Given the description of an element on the screen output the (x, y) to click on. 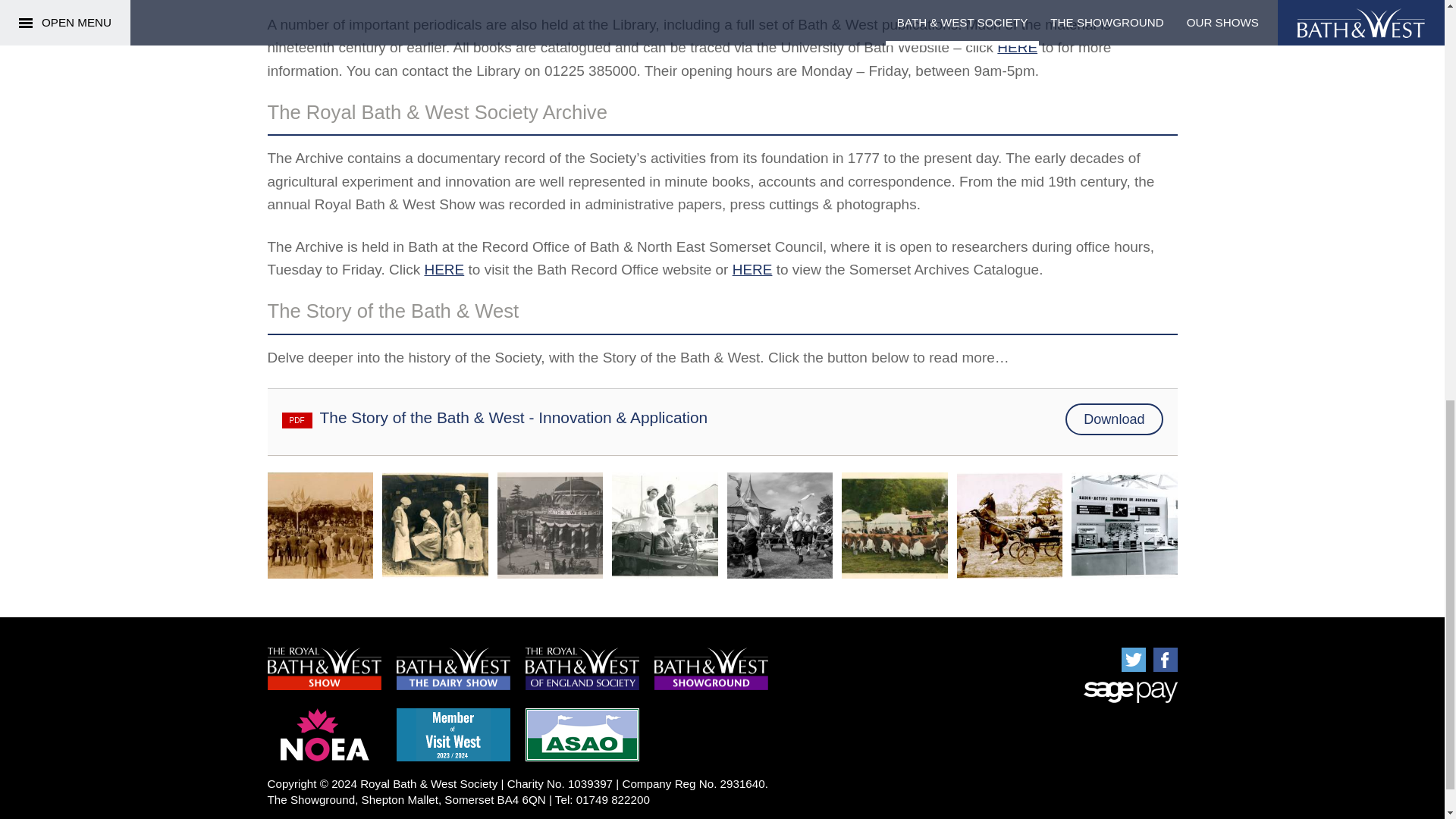
HERE (1016, 47)
HERE (443, 269)
HERE (752, 269)
Download (1113, 418)
